Given the description of an element on the screen output the (x, y) to click on. 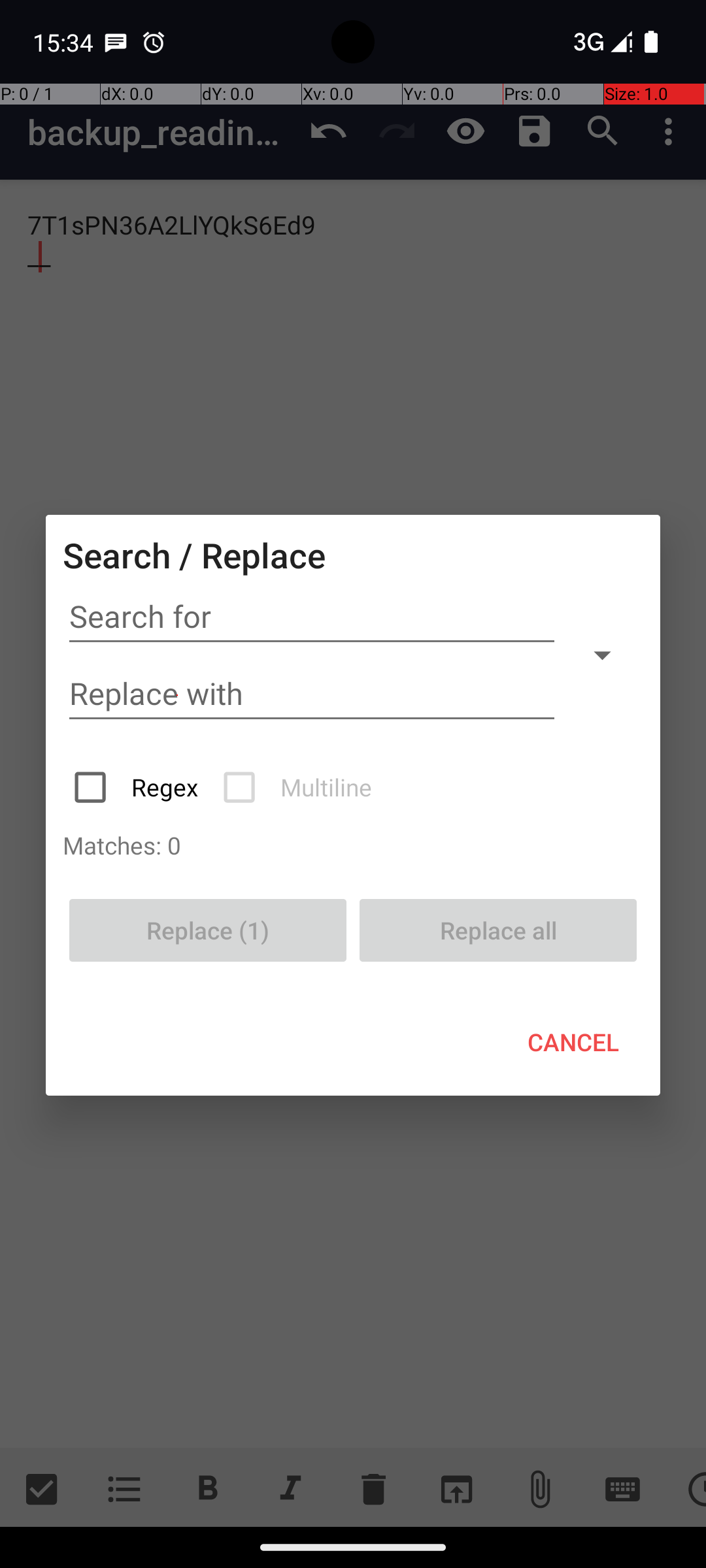
Search / Replace Element type: android.widget.TextView (193, 554)
Search for Element type: android.widget.EditText (311, 616)
Replace with Element type: android.widget.EditText (311, 693)
Regex Element type: android.widget.CheckBox (136, 786)
Multiline Element type: android.widget.CheckBox (298, 786)
Matches: 0 Element type: android.widget.TextView (352, 844)
Replace (1) Element type: android.widget.Button (207, 930)
Replace all Element type: android.widget.Button (498, 930)
